Given the description of an element on the screen output the (x, y) to click on. 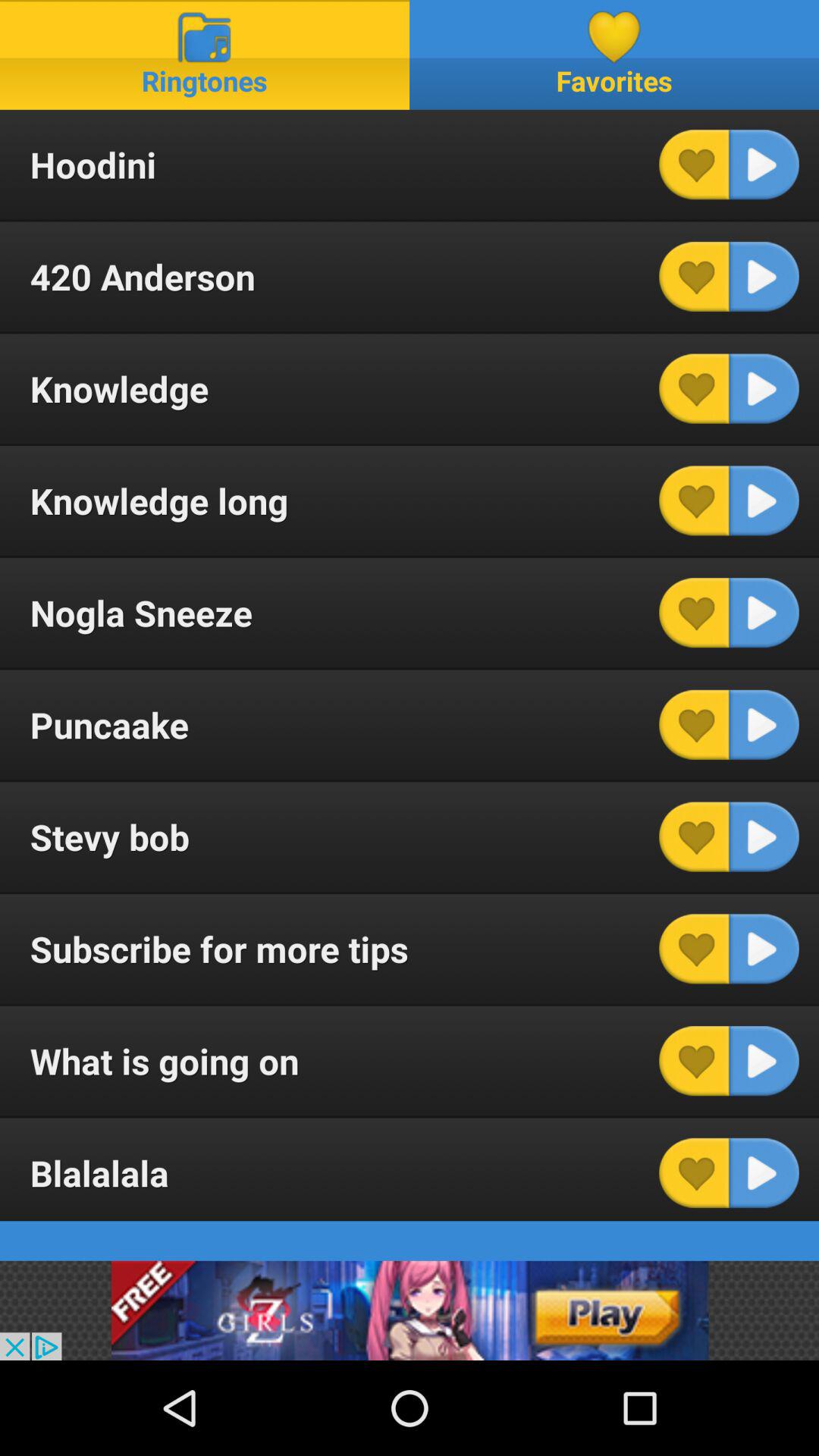
play this game free (409, 1310)
